Given the description of an element on the screen output the (x, y) to click on. 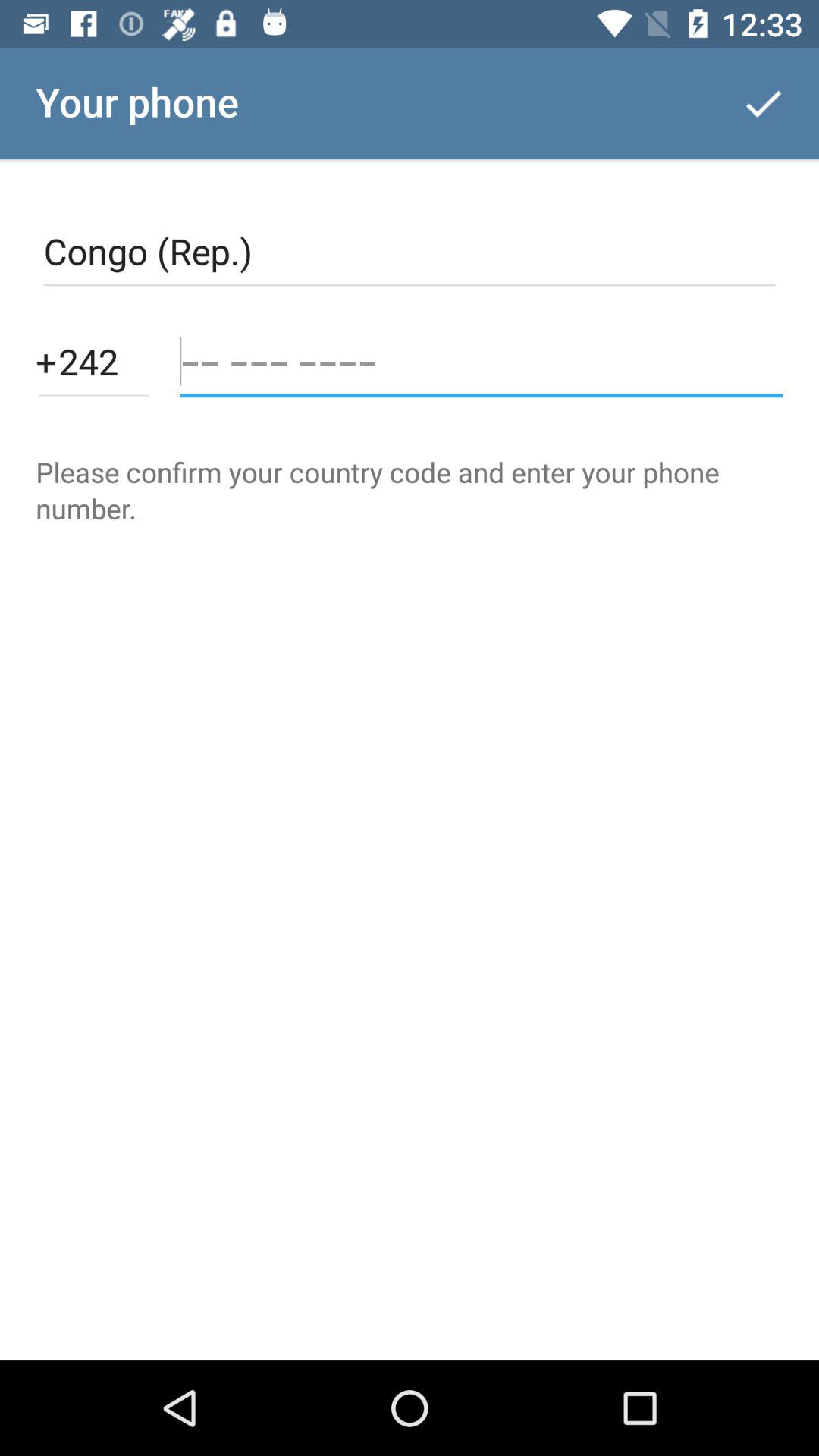
add phone number (481, 361)
